Given the description of an element on the screen output the (x, y) to click on. 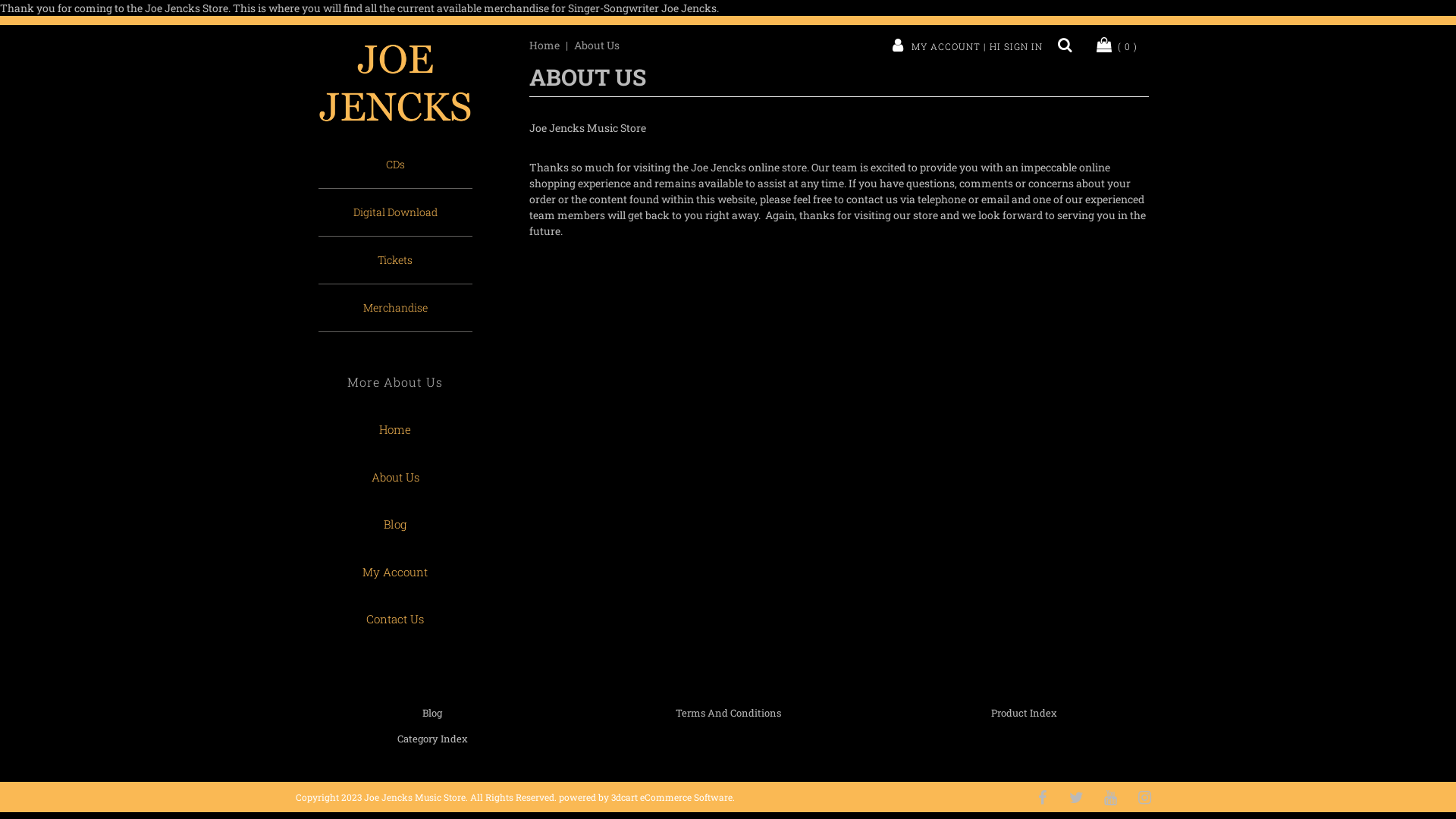
Merchandise Element type: text (395, 307)
Blog Element type: text (395, 524)
Like Us on Facebook Element type: hover (1041, 796)
Digital Download Element type: text (395, 211)
( 0 ) Element type: text (1115, 46)
Home Element type: text (395, 429)
About Us Element type: text (595, 44)
About Us Element type: text (395, 477)
Terms And Conditions Element type: text (727, 711)
Category Index Element type: text (432, 737)
Product Index Element type: text (1023, 711)
Subscribe to our Channel Element type: hover (1110, 796)
CDs Element type: text (395, 164)
Follow Us on Twitter Element type: hover (1075, 796)
My Account Element type: text (395, 571)
Contact Us Element type: text (395, 619)
MY ACCOUNT | HI SIGN IN Element type: text (964, 46)
Home Element type: text (544, 44)
Tickets Element type: text (395, 259)
Follow Us on Instagram Element type: hover (1144, 796)
Blog Element type: text (432, 711)
powered by 3dcart eCommerce Software Element type: text (645, 796)
